Given the description of an element on the screen output the (x, y) to click on. 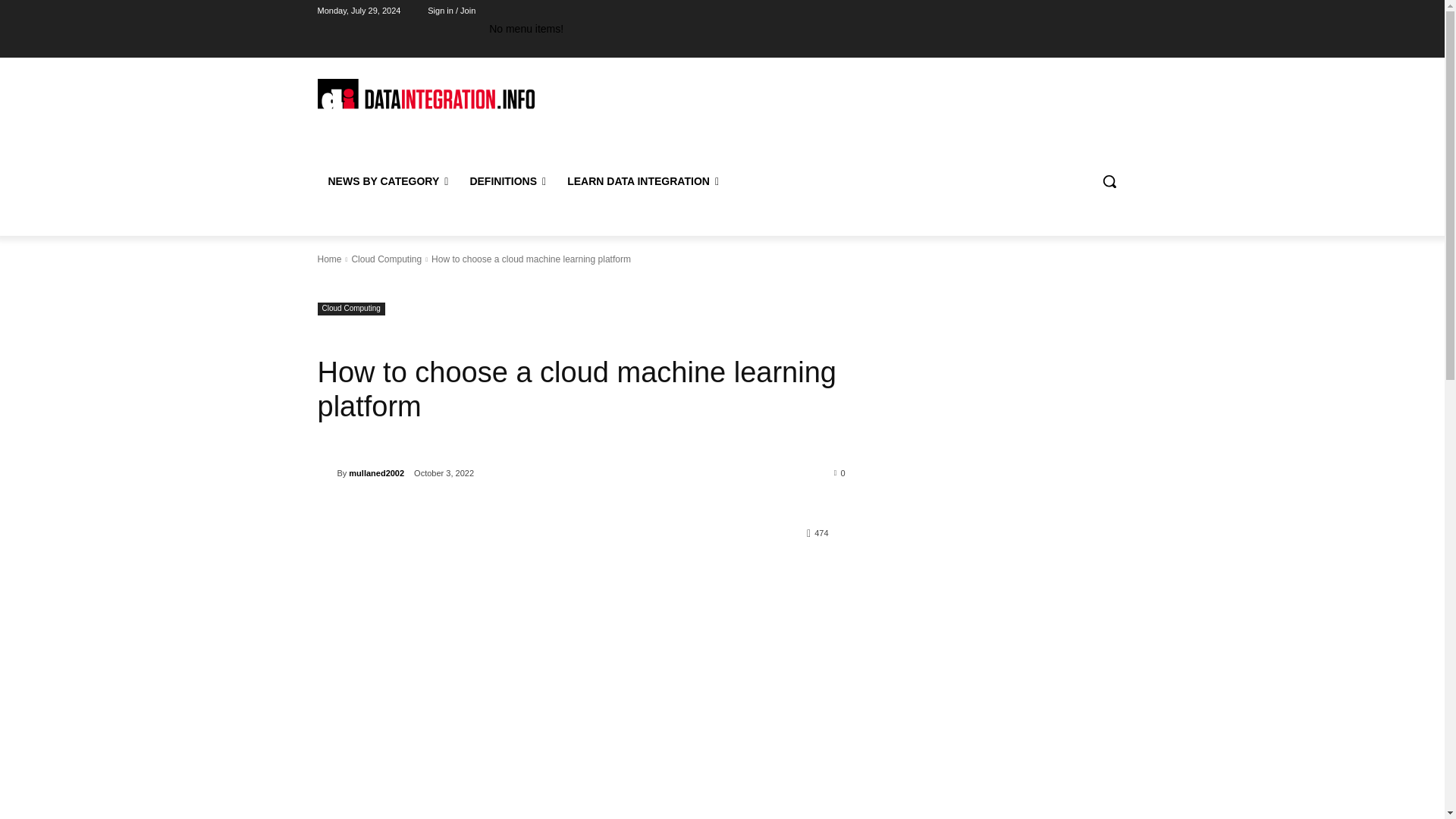
mullaned2002 (326, 473)
View all posts in Cloud Computing (386, 258)
NEWS BY CATEGORY (387, 180)
